Given the description of an element on the screen output the (x, y) to click on. 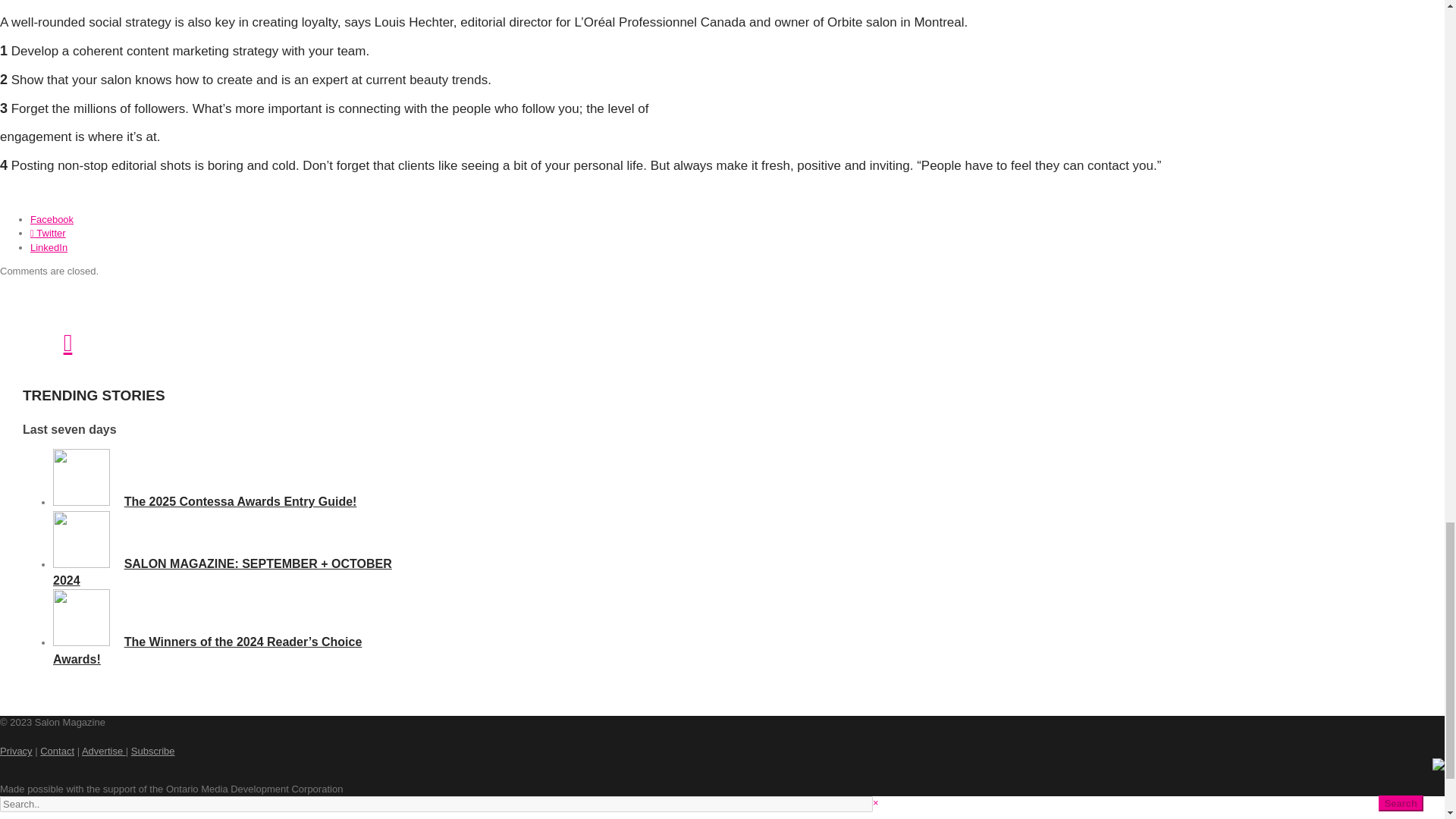
Share via Twitter (47, 233)
Share via LinkedIn (48, 246)
Share via Facebook (52, 219)
